Given the description of an element on the screen output the (x, y) to click on. 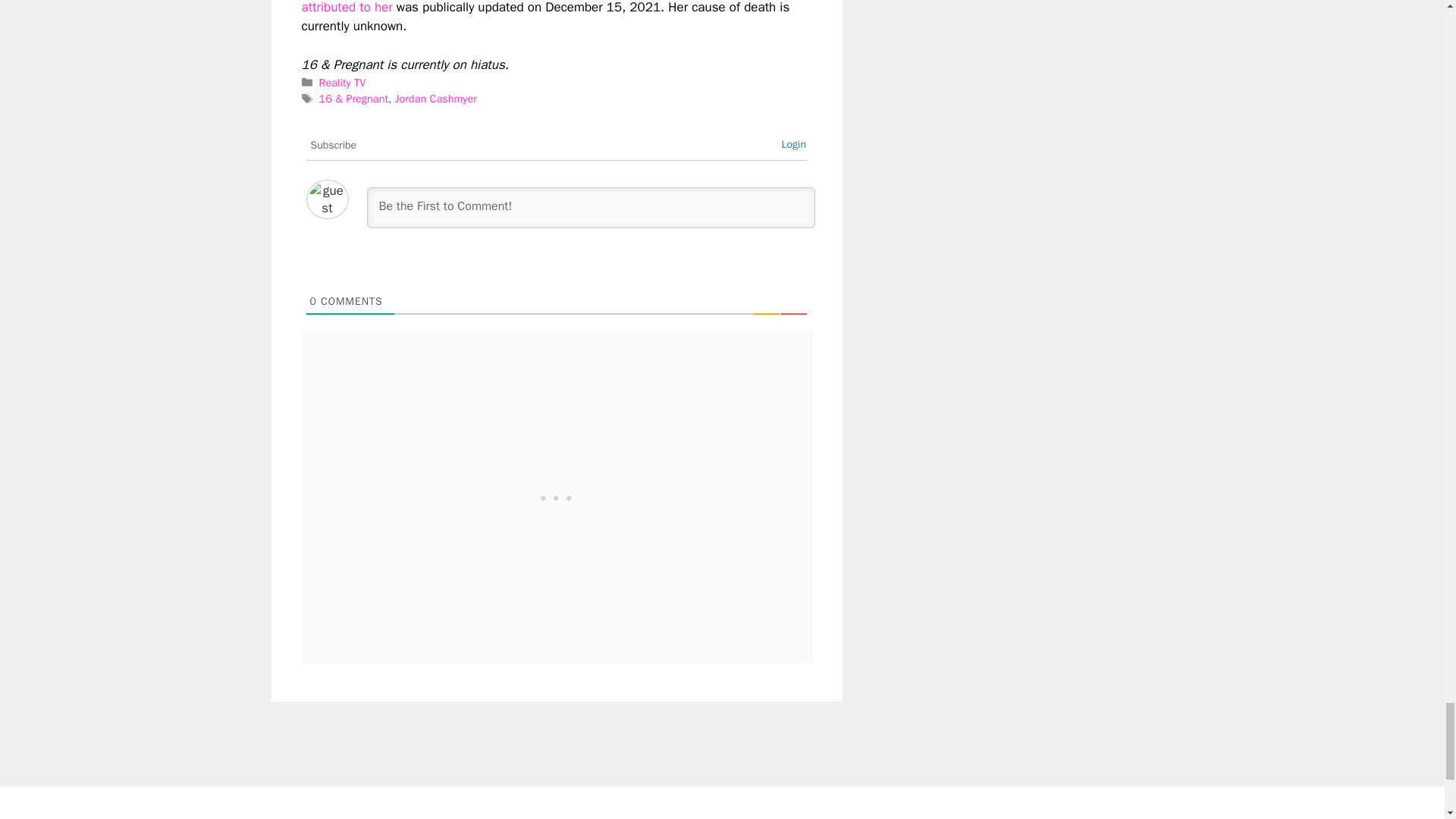
Login (793, 144)
Reality TV (342, 82)
Jordan Cashmyer (435, 98)
Facebook page attributed to her (544, 7)
